Given the description of an element on the screen output the (x, y) to click on. 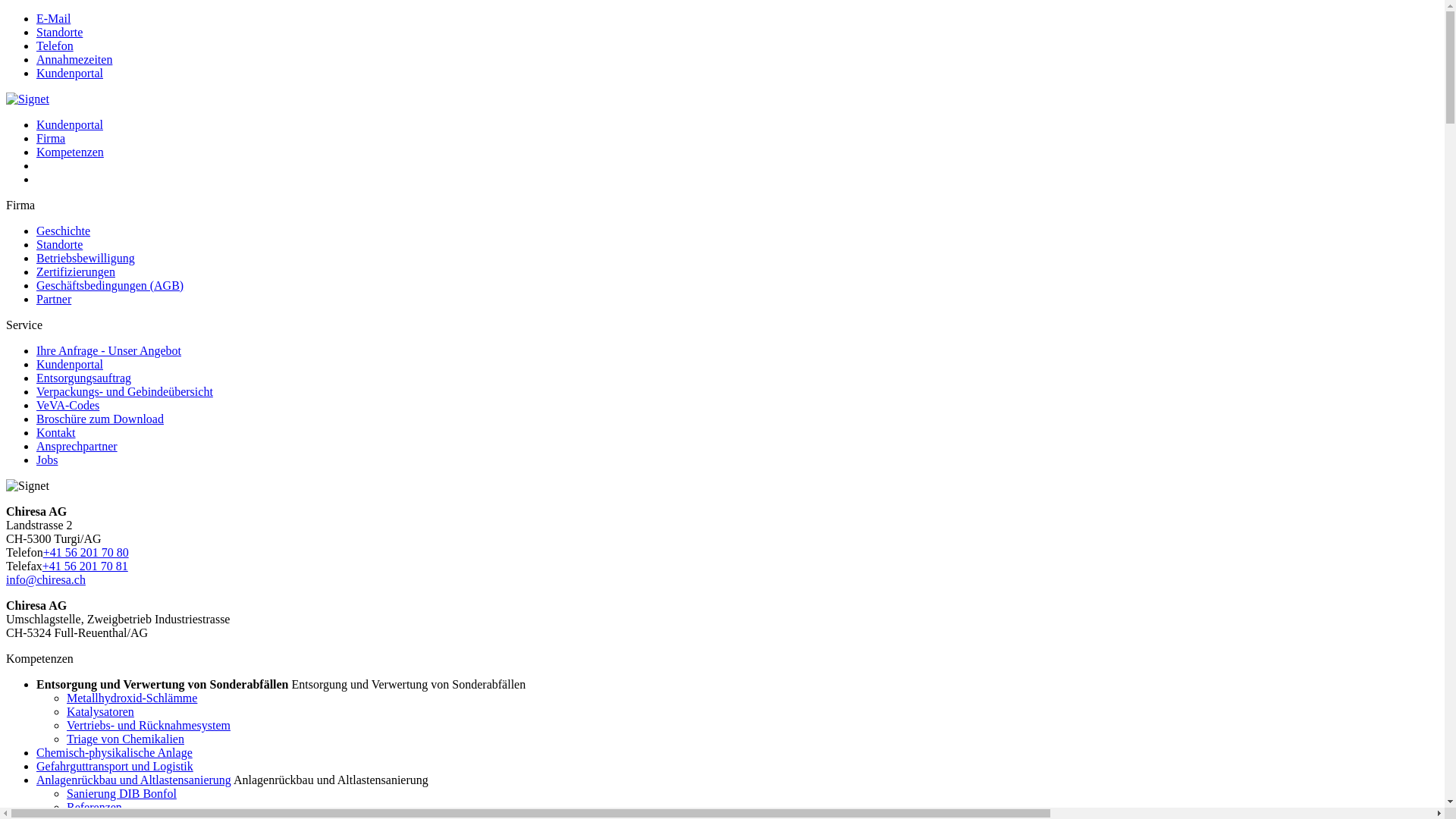
Kundenportal Element type: text (69, 363)
Standorte Element type: text (59, 31)
Firma Element type: text (50, 137)
+41 56 201 70 80 Element type: text (85, 552)
+41 56 201 70 81 Element type: text (85, 565)
E-Mail Element type: text (53, 18)
Referenzen Element type: text (94, 806)
Kundenportal Element type: text (69, 124)
Annahmezeiten Element type: text (74, 59)
VeVA-Codes Element type: text (67, 404)
Zertifizierungen Element type: text (75, 271)
Katalysatoren Element type: text (100, 711)
Entsorgungsauftrag Element type: text (83, 377)
Triage von Chemikalien Element type: text (125, 738)
Gefahrguttransport und Logistik Element type: text (114, 765)
Standorte Element type: text (59, 244)
Chemisch-physikalische Anlage Element type: text (114, 752)
Jobs Element type: text (46, 459)
info@chiresa.ch Element type: text (45, 579)
Betriebsbewilligung Element type: text (85, 257)
Zur Startseite Element type: hover (27, 98)
Kompetenzen Element type: text (69, 151)
Sanierung DIB Bonfol Element type: text (121, 793)
Ansprechpartner Element type: text (76, 445)
Ihre Anfrage - Unser Angebot Element type: text (108, 350)
Kontakt Element type: text (55, 432)
Geschichte Element type: text (63, 230)
Telefon Element type: text (54, 45)
Kundenportal Element type: text (69, 72)
Partner Element type: text (53, 298)
